Given the description of an element on the screen output the (x, y) to click on. 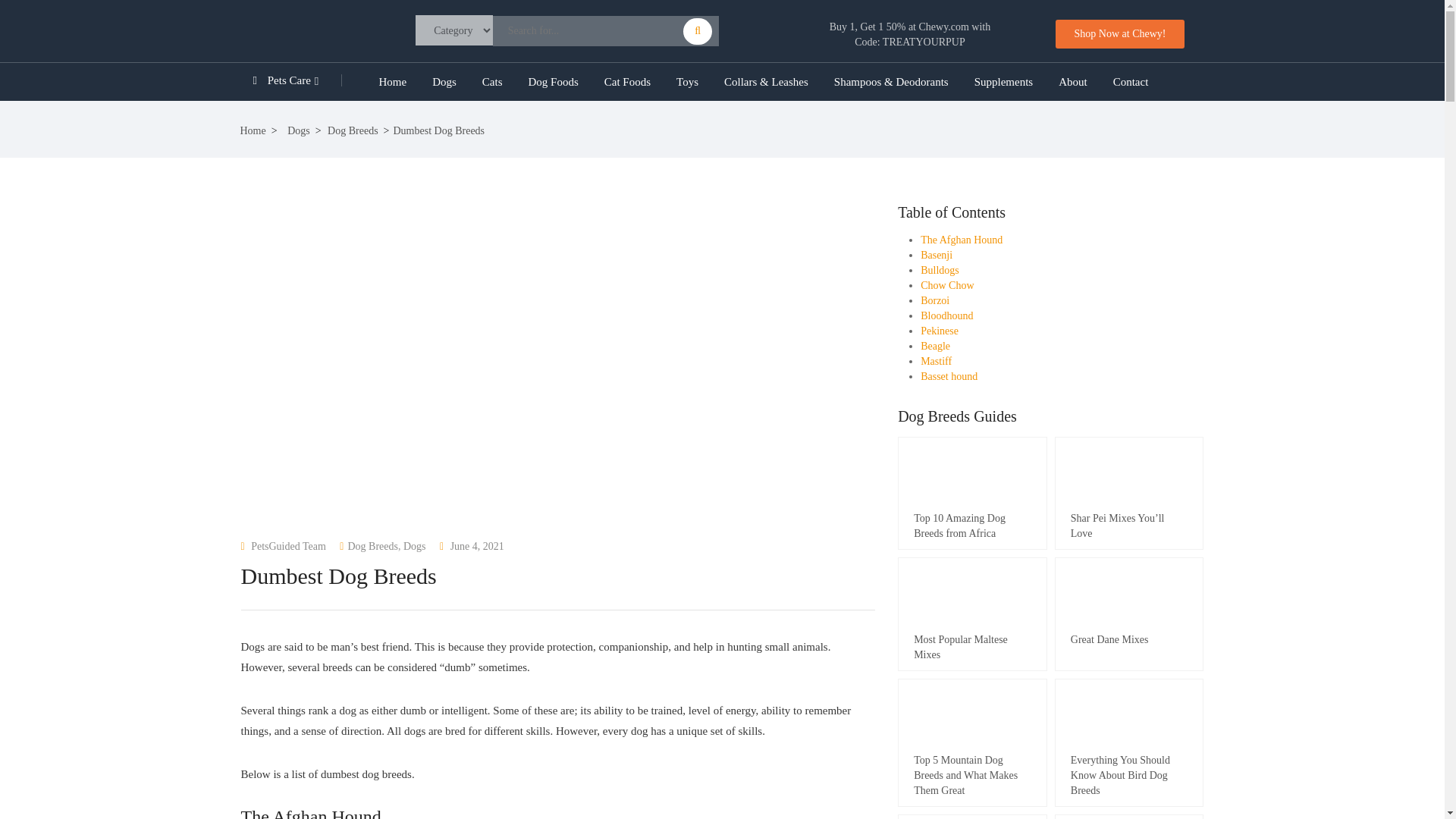
Pets Care (303, 81)
Shop Now at Chewy! (1120, 33)
Home (392, 81)
Log In (547, 483)
